Given the description of an element on the screen output the (x, y) to click on. 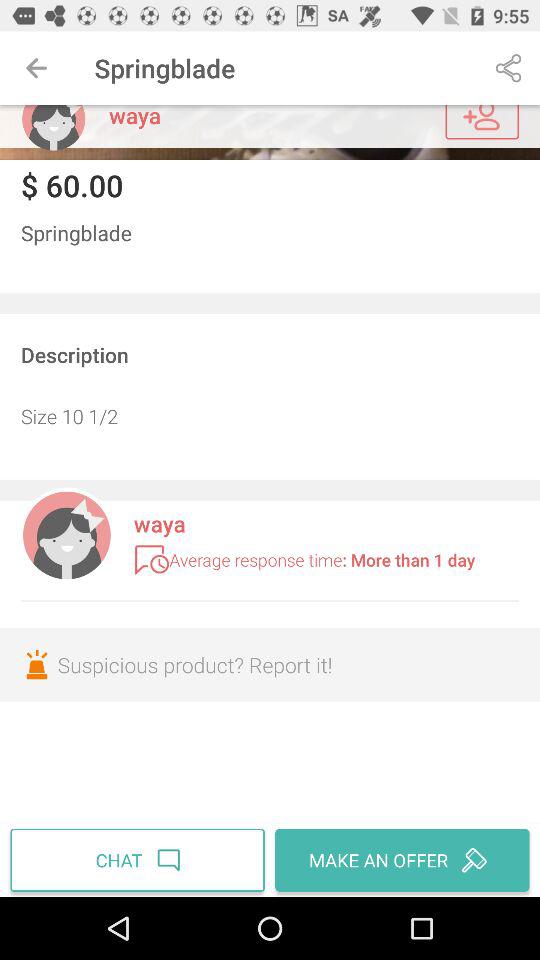
turn on the chat (139, 860)
